Given the description of an element on the screen output the (x, y) to click on. 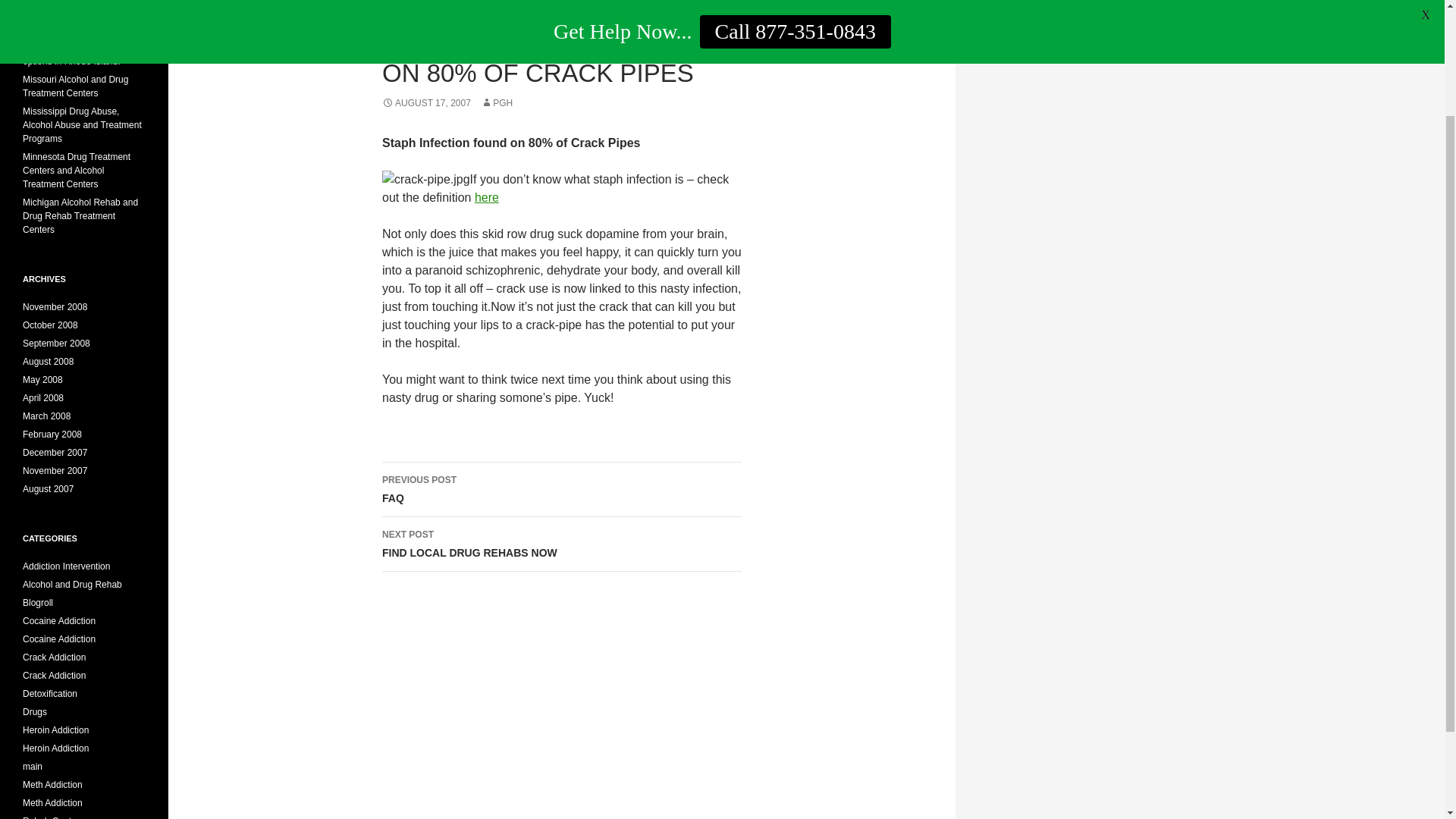
November 2007 (55, 470)
Detoxification (50, 693)
October 2008 (50, 325)
Crack Addiction (54, 656)
Cocaine Addiction (59, 620)
April 2008 (43, 398)
PGH (496, 102)
here (486, 196)
August 2008 (48, 361)
Drugs (34, 711)
